Given the description of an element on the screen output the (x, y) to click on. 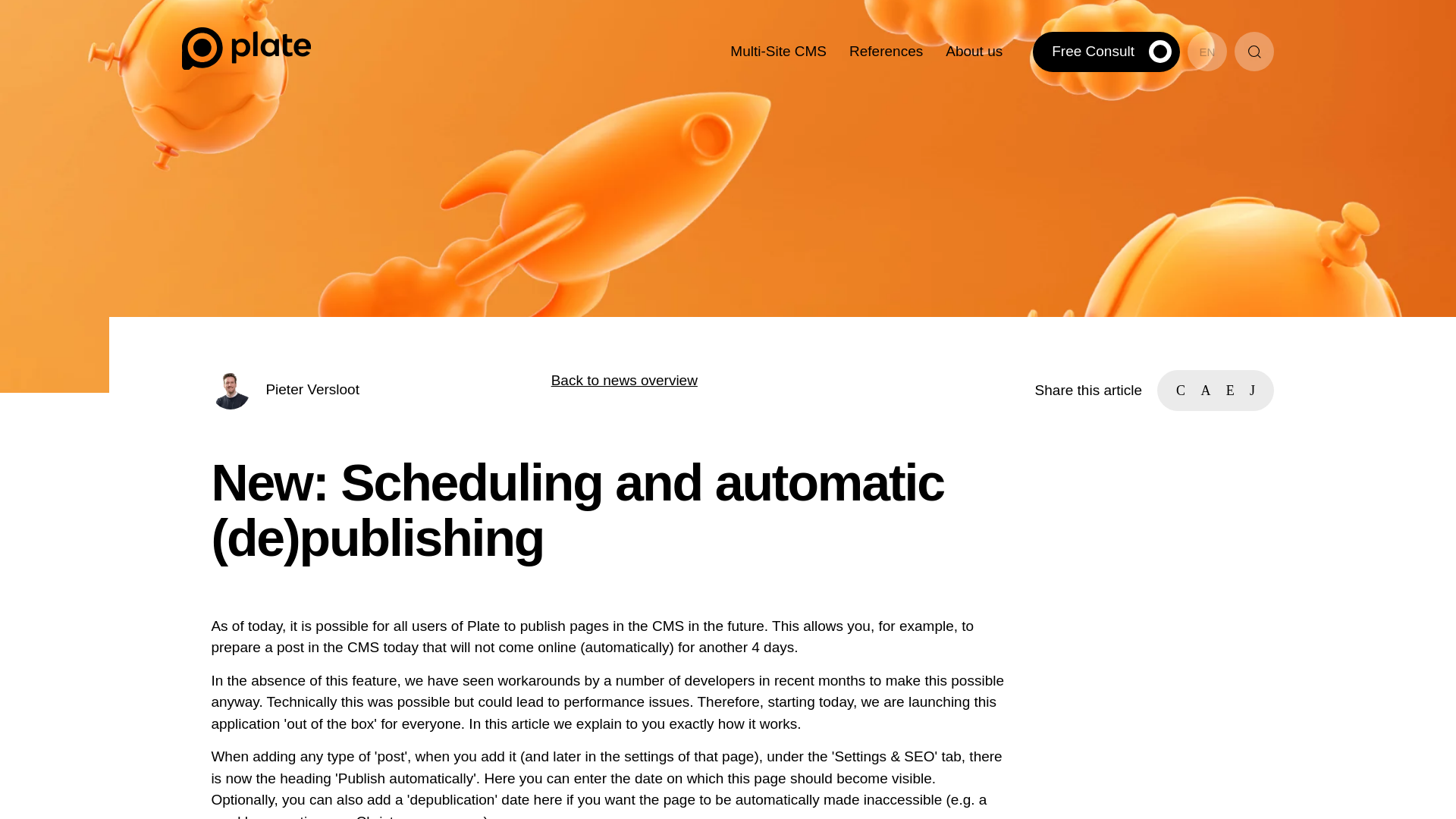
X (337, 511)
Youtube (287, 512)
LinkedIn (261, 511)
Instagram (312, 511)
Spotify (361, 511)
